Given the description of an element on the screen output the (x, y) to click on. 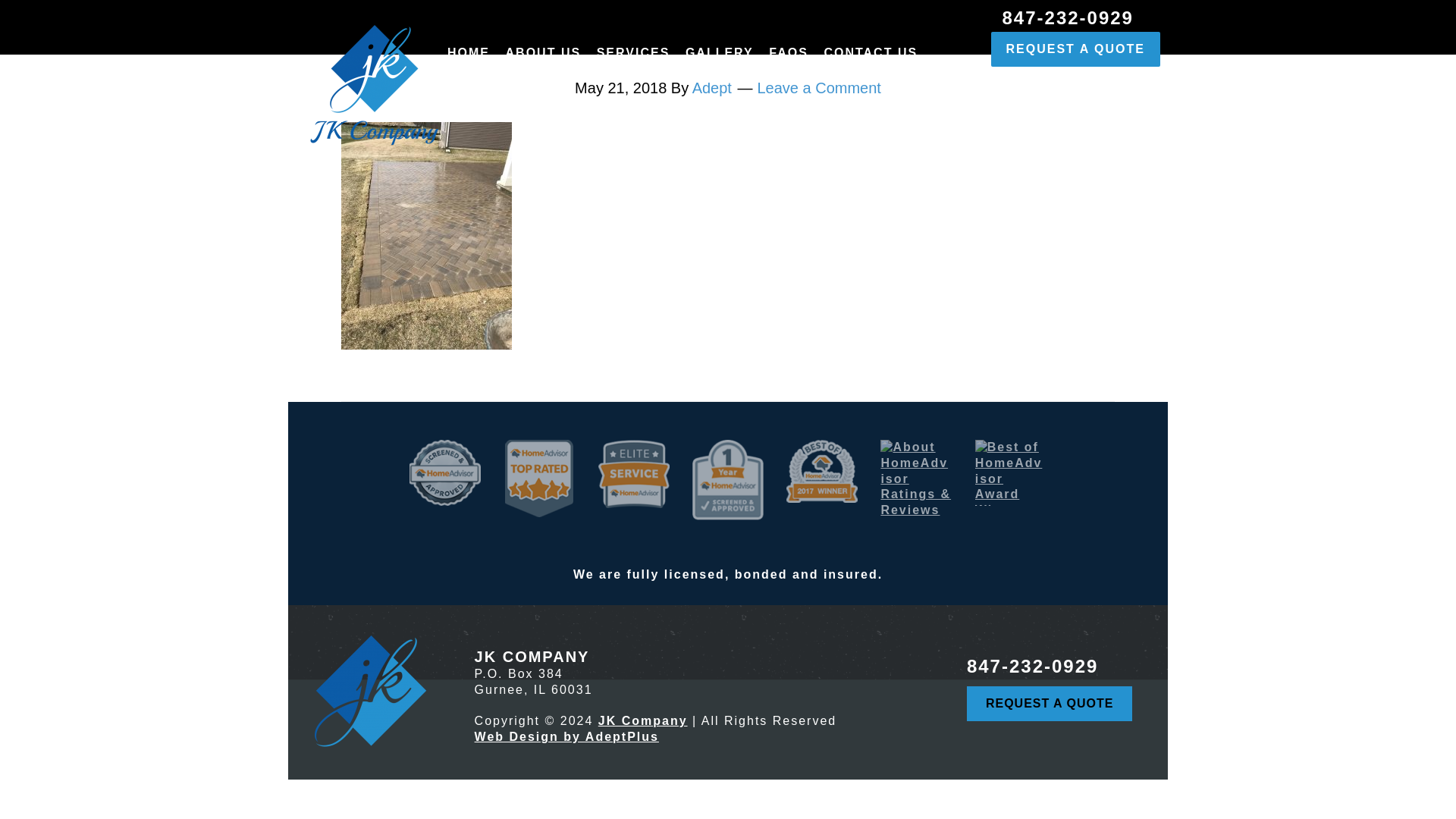
Adept (712, 87)
REQUEST A QUOTE (1075, 48)
GALLERY (719, 56)
Gurnee Web Design by AdeptPlus (566, 736)
Web Design by AdeptPlus (566, 736)
HA Elite Service (633, 473)
JKCompany (369, 692)
HA Best of 2017 (821, 470)
847-232-0929 (1067, 13)
